Given the description of an element on the screen output the (x, y) to click on. 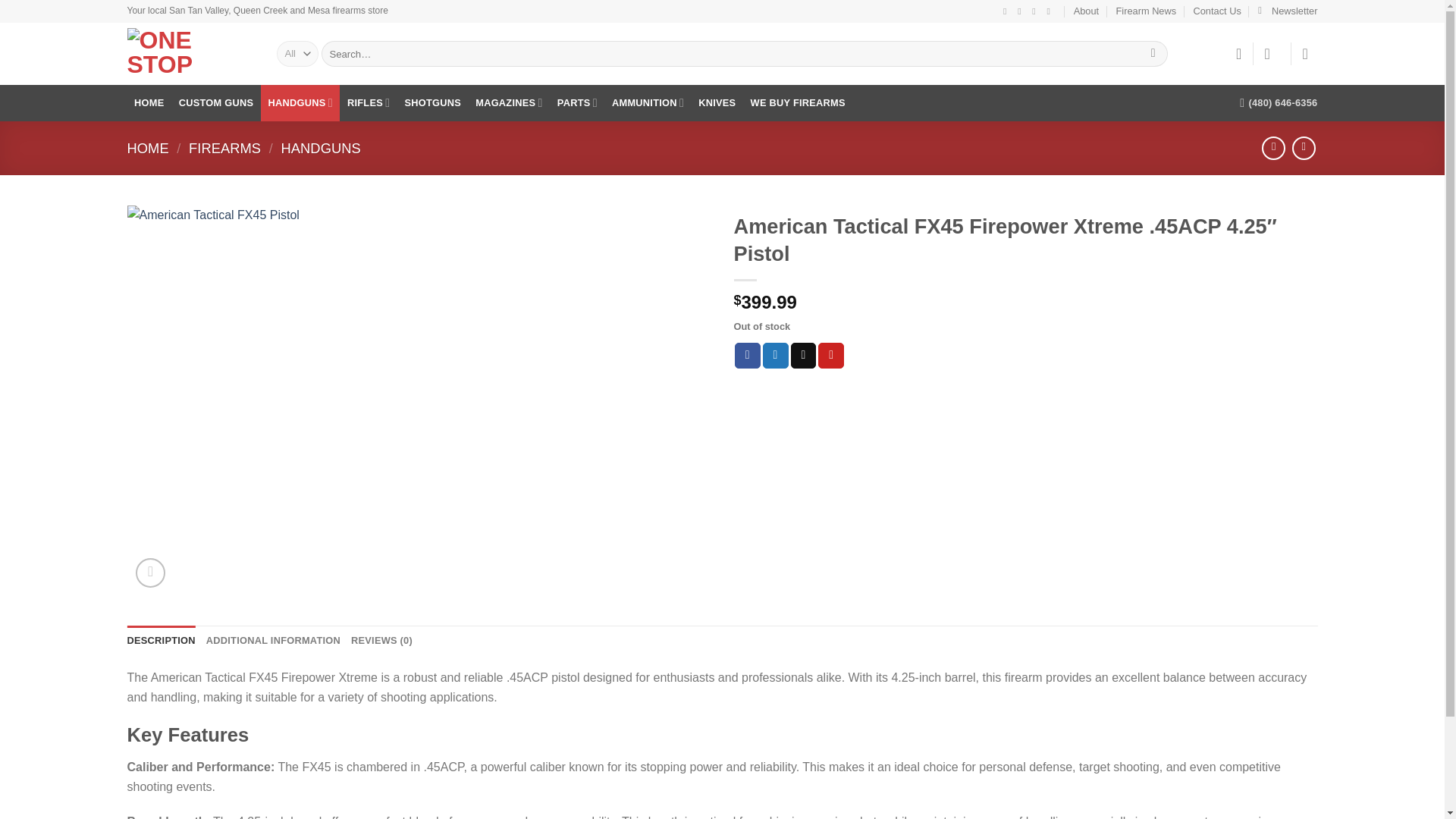
HANDGUNS (299, 103)
HOME (149, 103)
Firearm News (1146, 11)
CUSTOM GUNS (215, 103)
MAGAZINES (509, 103)
Share on Twitter (775, 355)
Newsletter (1287, 11)
Contact Us (1217, 11)
RIFLES (368, 103)
About (1086, 11)
PARTS (577, 103)
Search (1153, 53)
Share on Facebook (747, 355)
Sign up for Newsletter (1287, 11)
